Given the description of an element on the screen output the (x, y) to click on. 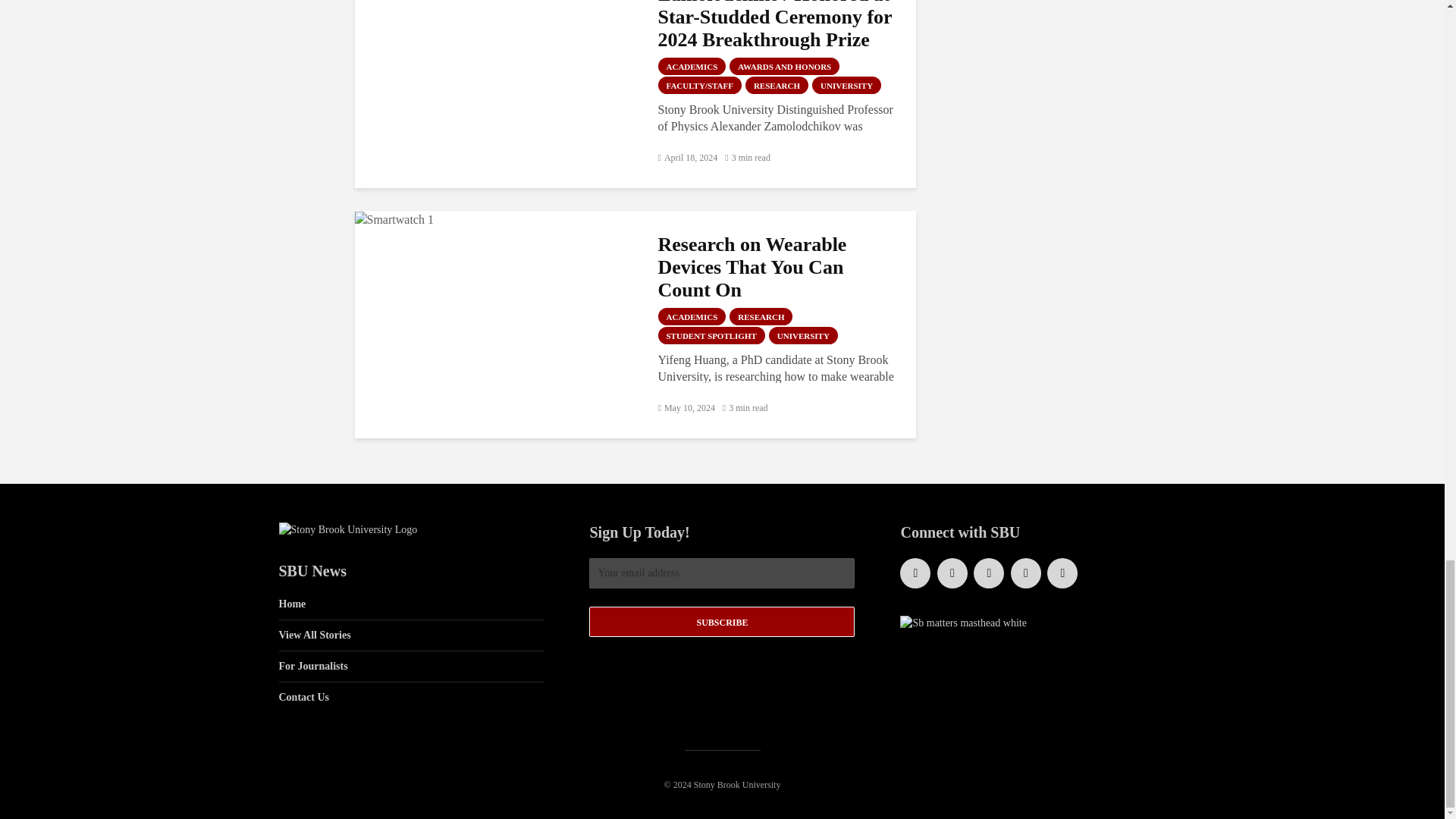
Subscribe (721, 621)
Research on Wearable Devices That You Can Count On (394, 218)
